Given the description of an element on the screen output the (x, y) to click on. 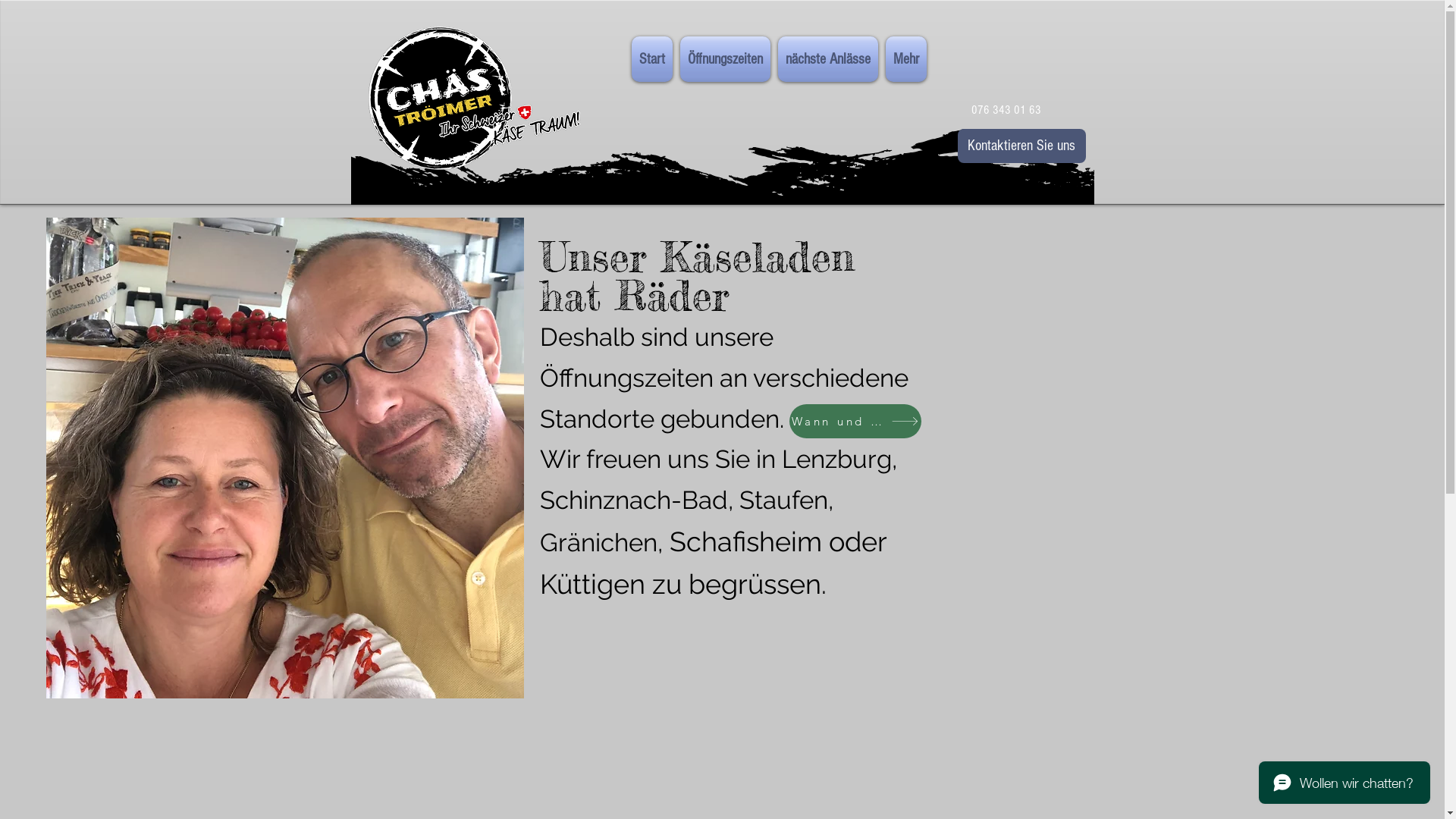
Wann und Wo Element type: text (855, 421)
Start Element type: text (651, 58)
Kontaktieren Sie uns Element type: text (1021, 145)
